Given the description of an element on the screen output the (x, y) to click on. 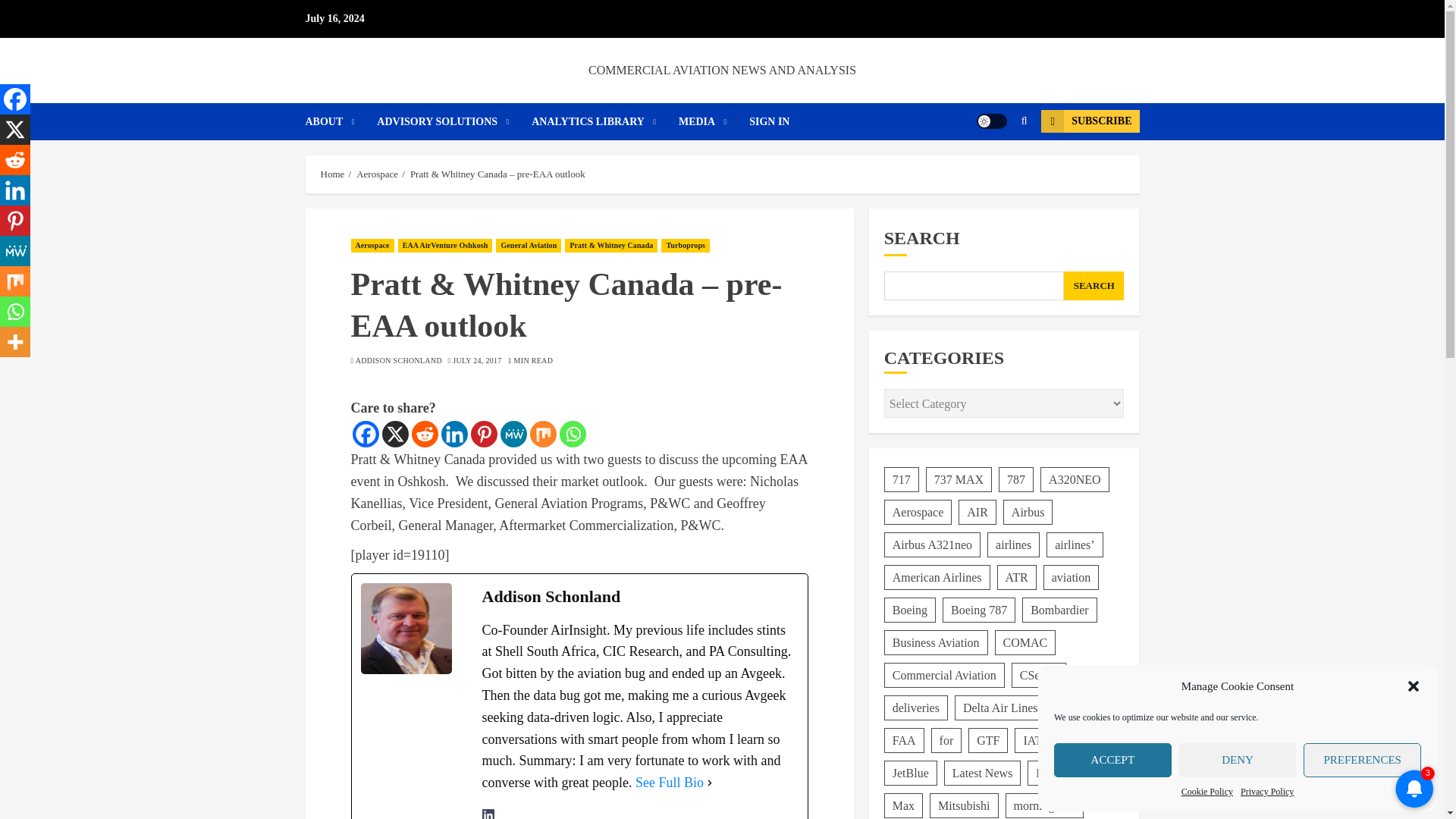
Whatsapp (572, 433)
Reddit (424, 433)
Facebook (15, 99)
Reddit (15, 159)
ADVISORY SOLUTIONS (454, 121)
Facebook (365, 433)
ACCEPT (1113, 759)
Pinterest (483, 433)
DENY (1238, 759)
Mix (542, 433)
Linkedin (15, 190)
Search (1023, 121)
X (15, 129)
Cookie Policy (1206, 791)
PREFERENCES (1362, 759)
